Given the description of an element on the screen output the (x, y) to click on. 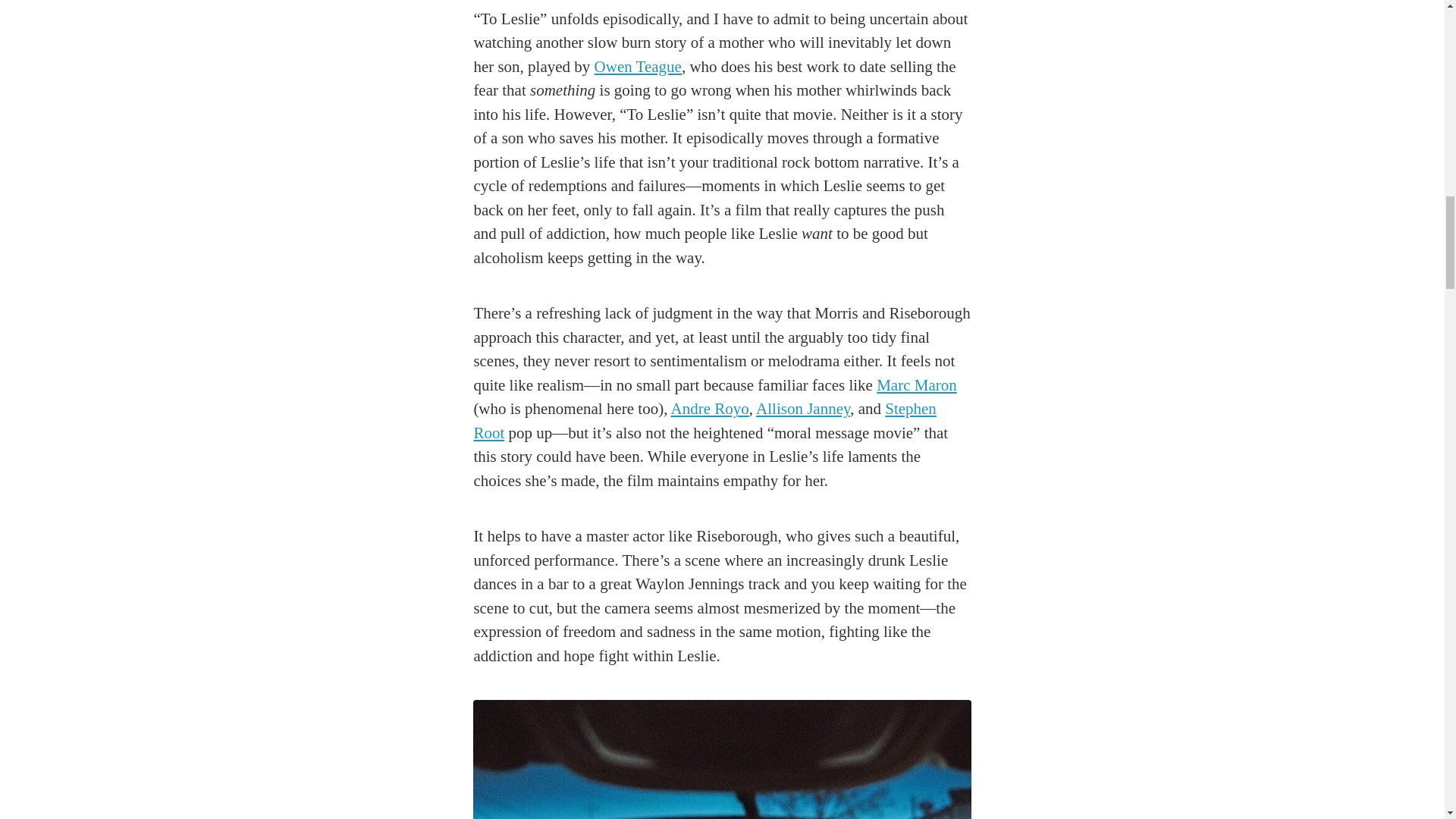
Marc Maron (916, 384)
Stephen Root (704, 420)
Andre Royo (708, 408)
Allison Janney (802, 408)
Owen Teague (637, 66)
